Given the description of an element on the screen output the (x, y) to click on. 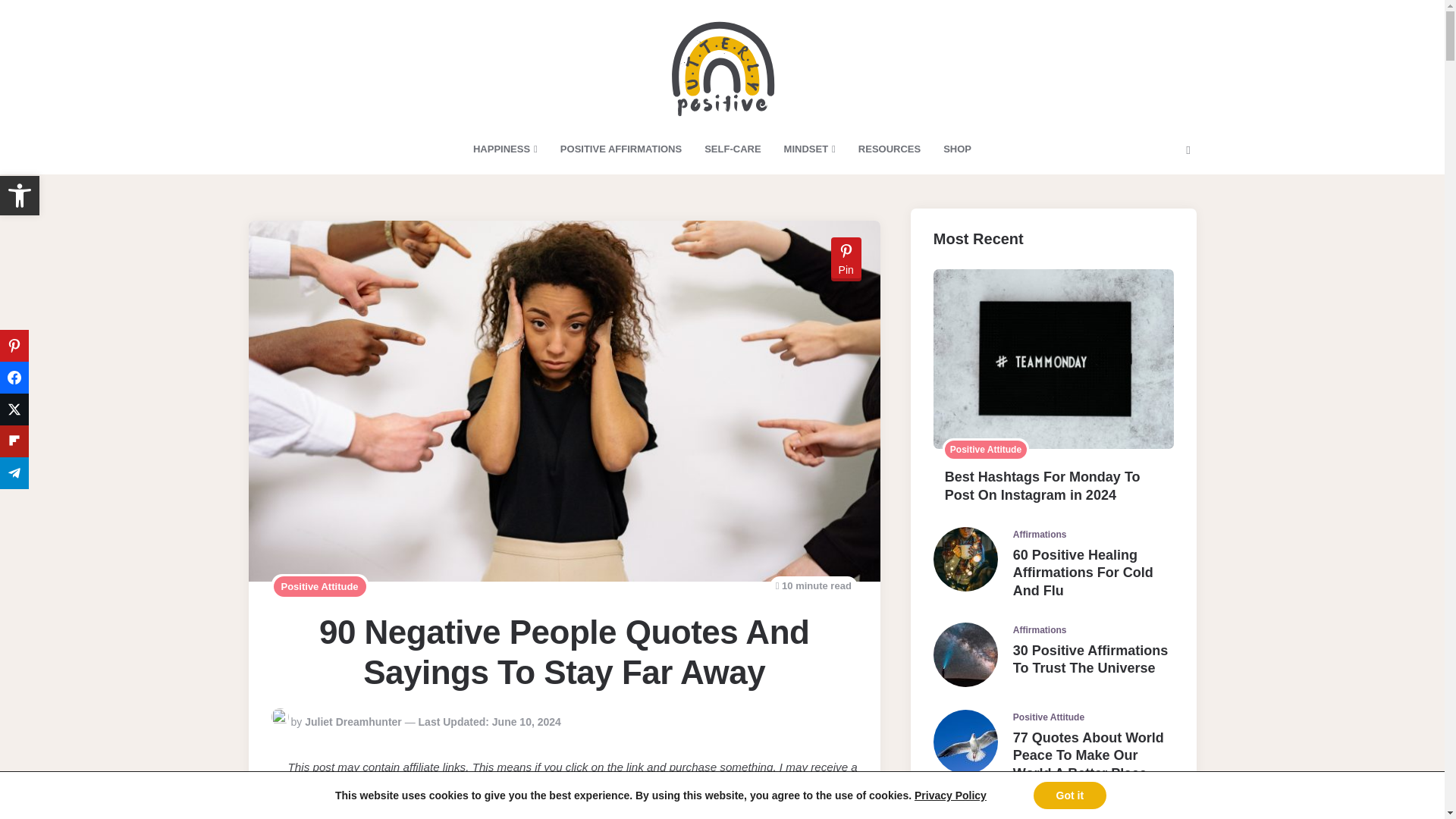
RESOURCES (889, 148)
MINDSET (810, 148)
Share on Facebook (14, 377)
HAPPINESS (504, 148)
POSITIVE AFFIRMATIONS (19, 195)
SHOP (620, 148)
Share on Telegram (956, 148)
SELF-CARE (14, 472)
Share on Flipboard (732, 148)
Share on Twitter (14, 441)
Share on Pinterest (14, 409)
Accessibility Tools (14, 345)
Accessibility Tools (19, 195)
